Given the description of an element on the screen output the (x, y) to click on. 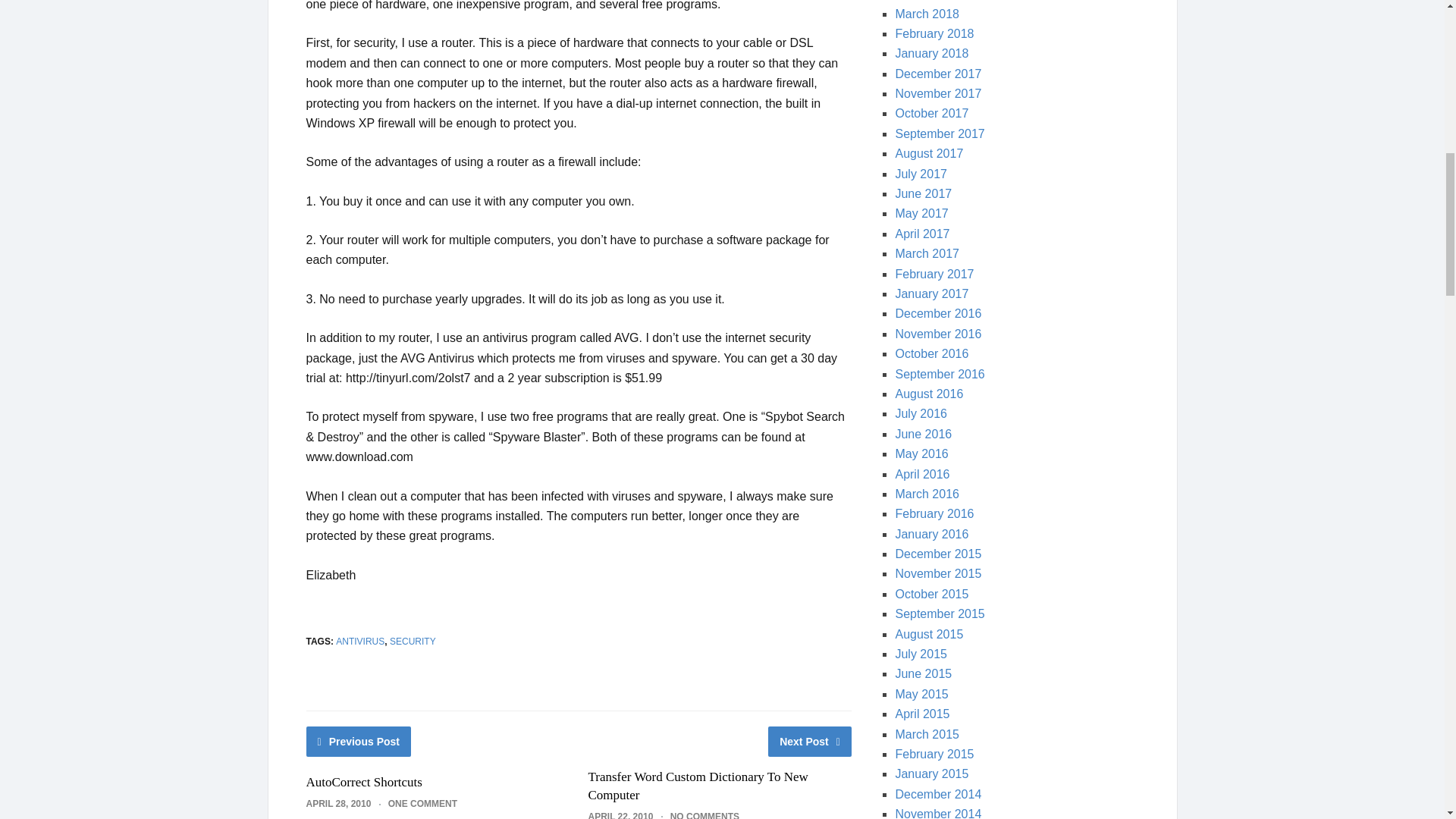
AutoCorrect Shortcuts (363, 781)
ANTIVIRUS (360, 641)
NO COMMENTS (704, 815)
January 2018 (931, 52)
ONE COMMENT (422, 803)
March 2018 (927, 13)
Previous Post (358, 741)
Next Post (809, 741)
Transfer Word Custom Dictionary To New Computer (698, 785)
SECURITY (412, 641)
February 2018 (934, 33)
November 2017 (938, 92)
December 2017 (938, 73)
